Given the description of an element on the screen output the (x, y) to click on. 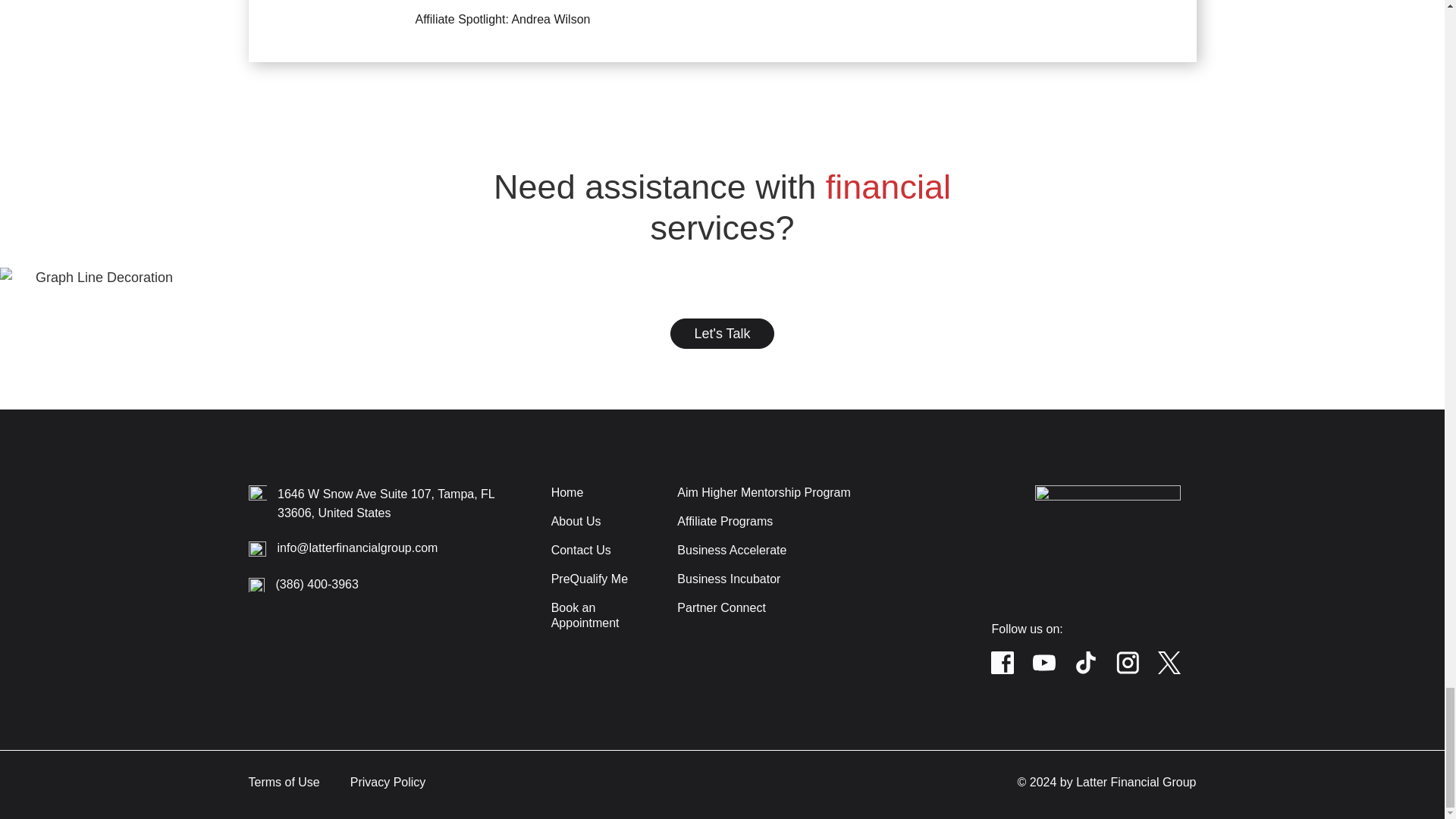
Affiliate Spotlight: Andrea Wilson (722, 31)
1646 W Snow Ave Suite 107, Tampa, FL 33606, United States (386, 503)
Let's Talk (721, 333)
